Given the description of an element on the screen output the (x, y) to click on. 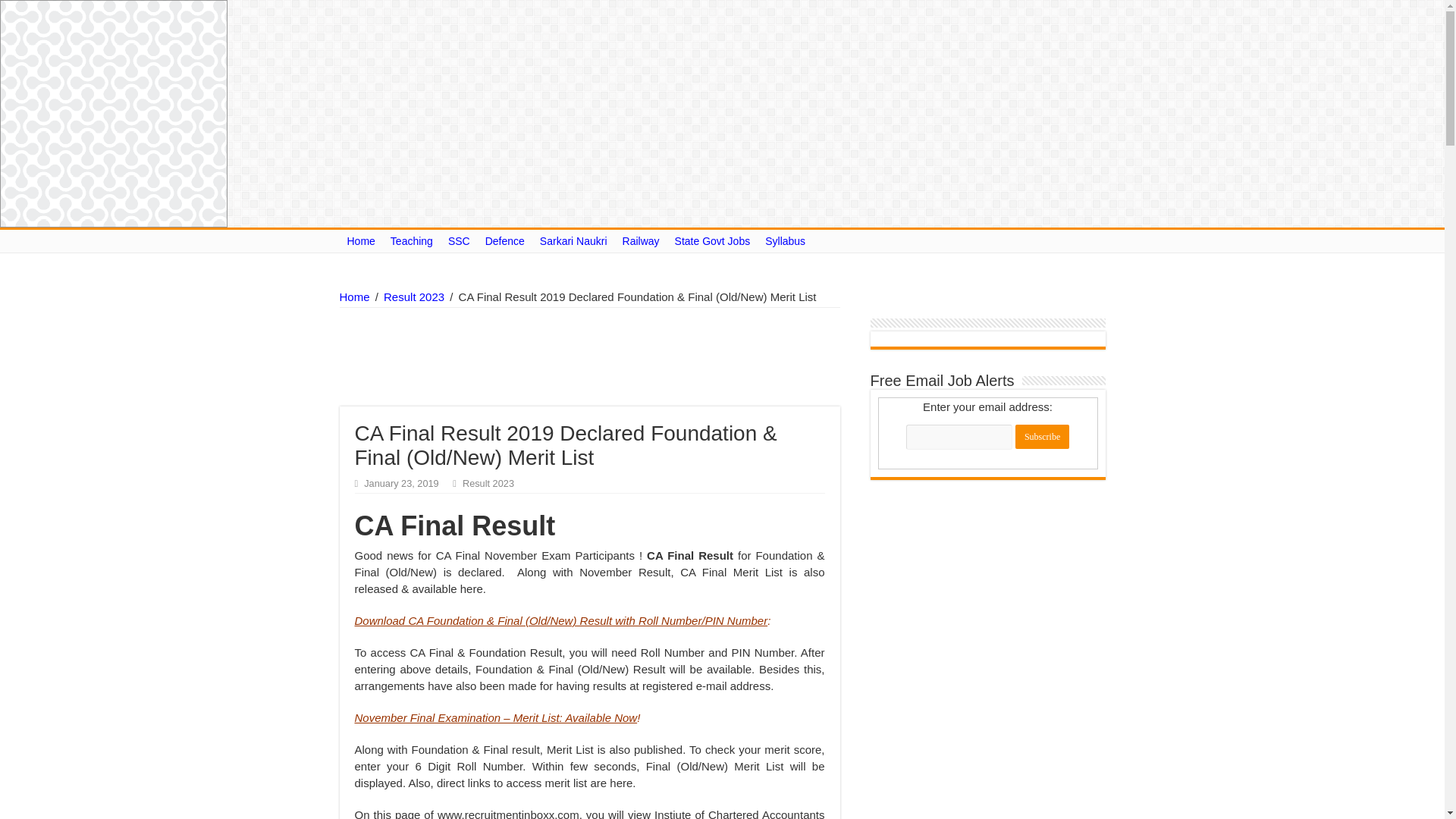
Defence (504, 241)
Result 2023 (414, 296)
Home Page (360, 241)
Result 2023 (488, 482)
Advertisement (666, 356)
Teaching (411, 241)
Subscribe (1041, 436)
Advertisement (511, 356)
Railway (640, 241)
State Govt Jobs (712, 241)
